Given the description of an element on the screen output the (x, y) to click on. 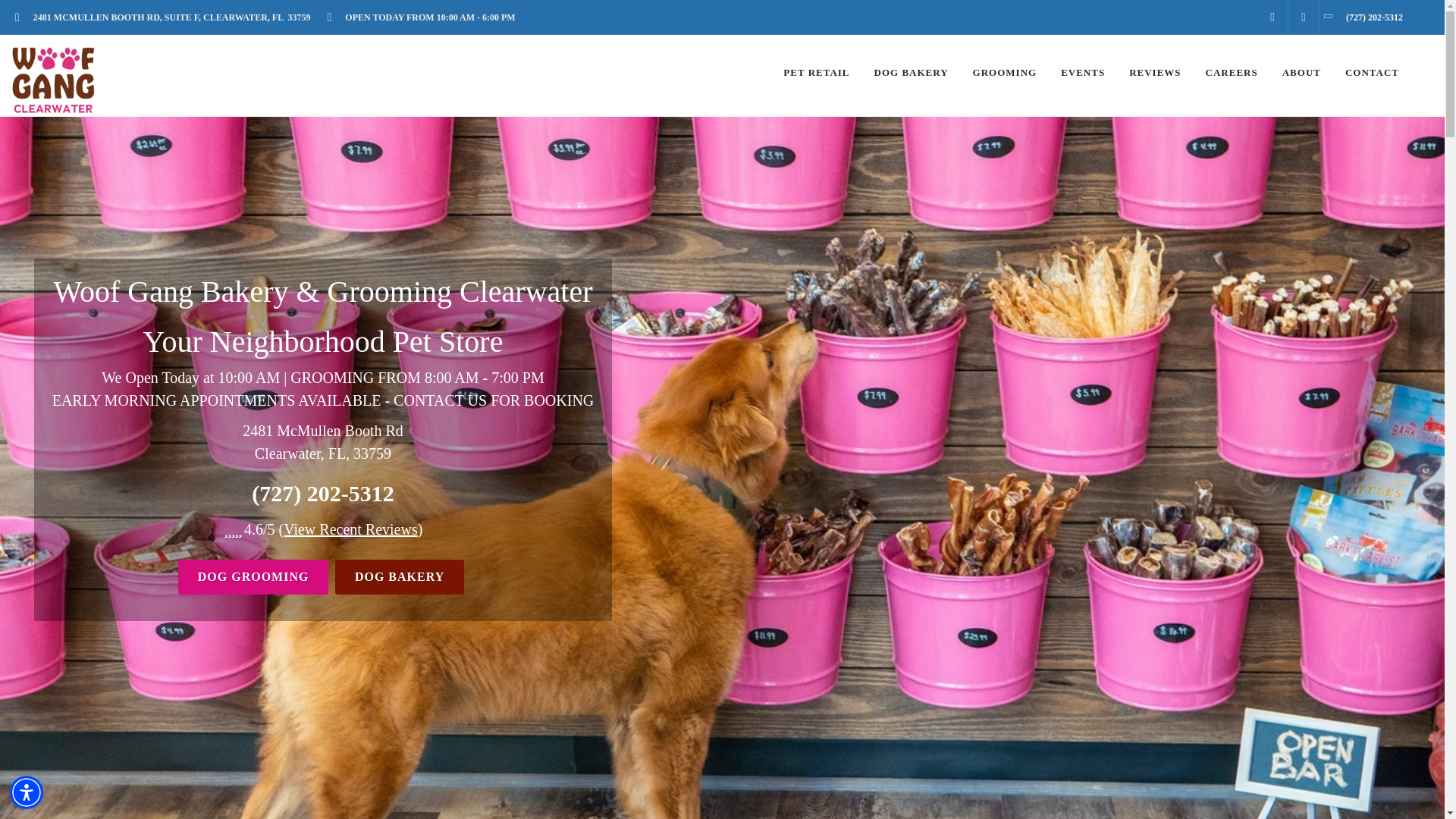
GROOMING (1004, 72)
CAREERS (1231, 72)
OPEN TODAY FROM 10:00 AM - 6:00 PM (425, 16)
PET RETAIL (815, 72)
Accessibility Menu (26, 792)
DOG GROOMING (253, 576)
DOG BAKERY (399, 576)
DOG BAKERY (911, 72)
2481 MCMULLEN BOOTH RD, SUITE F, CLEARWATER, FL  33759 (167, 16)
CONTACT (1371, 72)
REVIEWS (1155, 72)
